Given the description of an element on the screen output the (x, y) to click on. 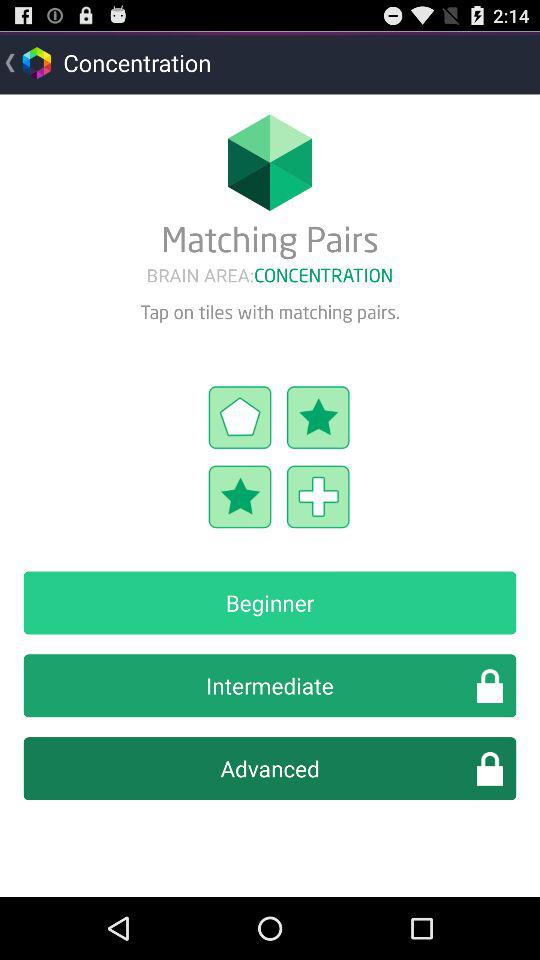
turn on the item below intermediate icon (269, 768)
